Given the description of an element on the screen output the (x, y) to click on. 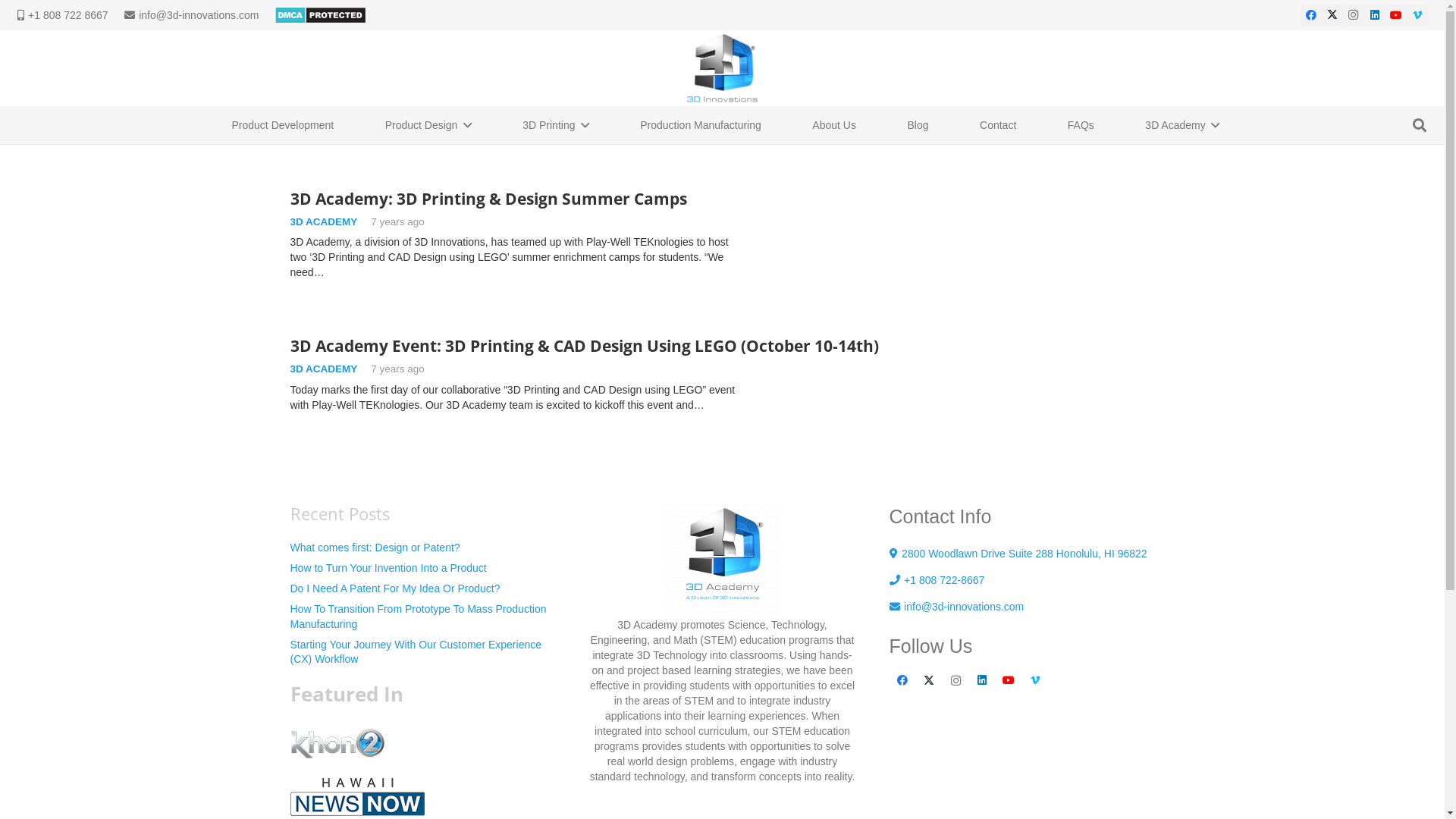
Facebook Element type: hover (1310, 14)
YouTube Element type: hover (1007, 680)
Production Manufacturing Element type: text (700, 125)
3D ACADEMY Element type: text (323, 368)
LinkedIn Element type: hover (982, 680)
Instagram Element type: hover (954, 680)
3D Printing Element type: text (555, 125)
3D Academy Element type: text (1182, 125)
Product Development Element type: text (283, 125)
Product Design Element type: text (428, 125)
How to Turn Your Invention Into a Product Element type: text (387, 567)
3D Academy: 3D Printing & Design Summer Camps Element type: text (487, 198)
Facebook Element type: hover (901, 680)
YouTube Element type: hover (1394, 14)
DMCA.com Protection Status Element type: hover (320, 14)
Twitter Element type: hover (929, 680)
+1 808 722-8667 Element type: text (936, 580)
FAQs Element type: text (1080, 125)
2800 Woodlawn Drive Suite 288 Honolulu, HI 96822 Element type: text (1017, 553)
What comes first: Design or Patent? Element type: text (374, 547)
+1 808 722 8667 Element type: text (61, 15)
Instagram Element type: hover (1352, 14)
info@3d-innovations.com Element type: text (955, 606)
Do I Need A Patent For My Idea Or Product? Element type: text (394, 588)
3D ACADEMY Element type: text (323, 221)
About Us Element type: text (834, 125)
Contact Element type: text (997, 125)
Blog Element type: text (917, 125)
LinkedIn Element type: hover (1373, 14)
info@3d-innovations.com Element type: text (191, 15)
Vimeo Element type: hover (1416, 14)
Vimeo Element type: hover (1035, 680)
Twitter Element type: hover (1331, 14)
